Given the description of an element on the screen output the (x, y) to click on. 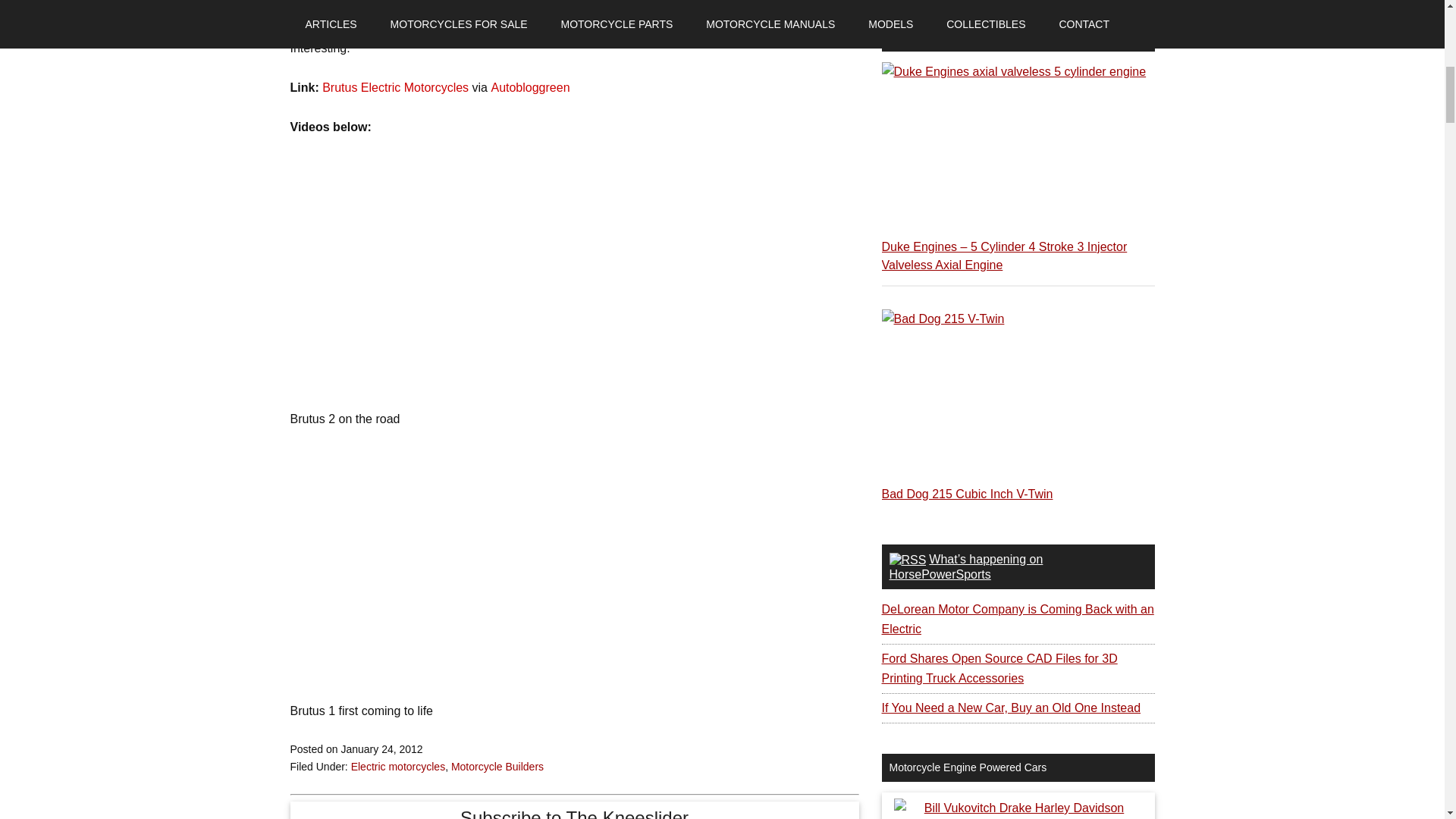
Autobloggreen (529, 87)
Bill Vukovitch Drake Harley Davidson powered midget racer (1017, 808)
Electric motorcycles (397, 766)
Brutus Electric Motorcycles (394, 87)
Motorcycle Builders (497, 766)
